Given the description of an element on the screen output the (x, y) to click on. 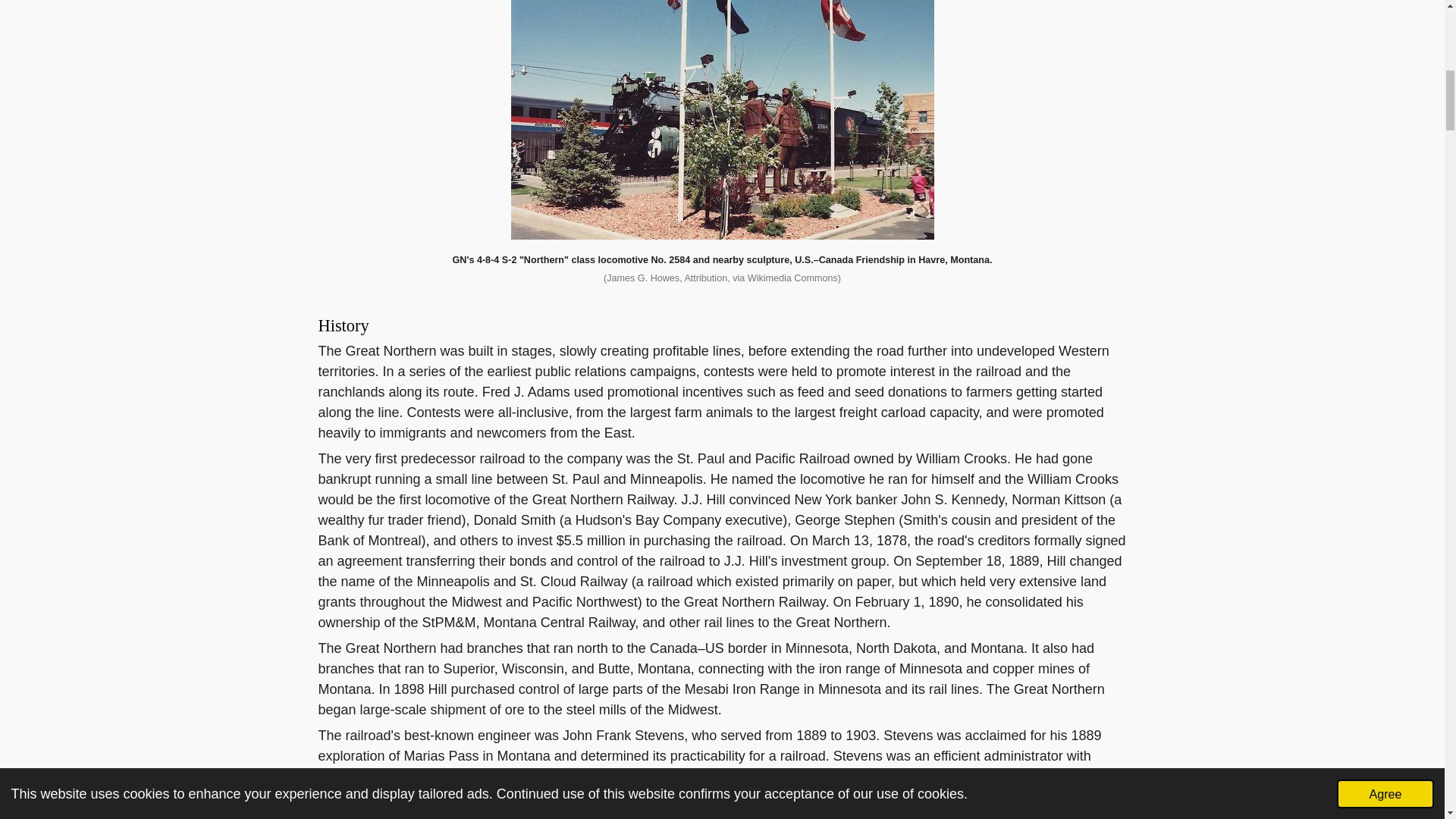
Agree (1384, 23)
Show large version (722, 119)
